Given the description of an element on the screen output the (x, y) to click on. 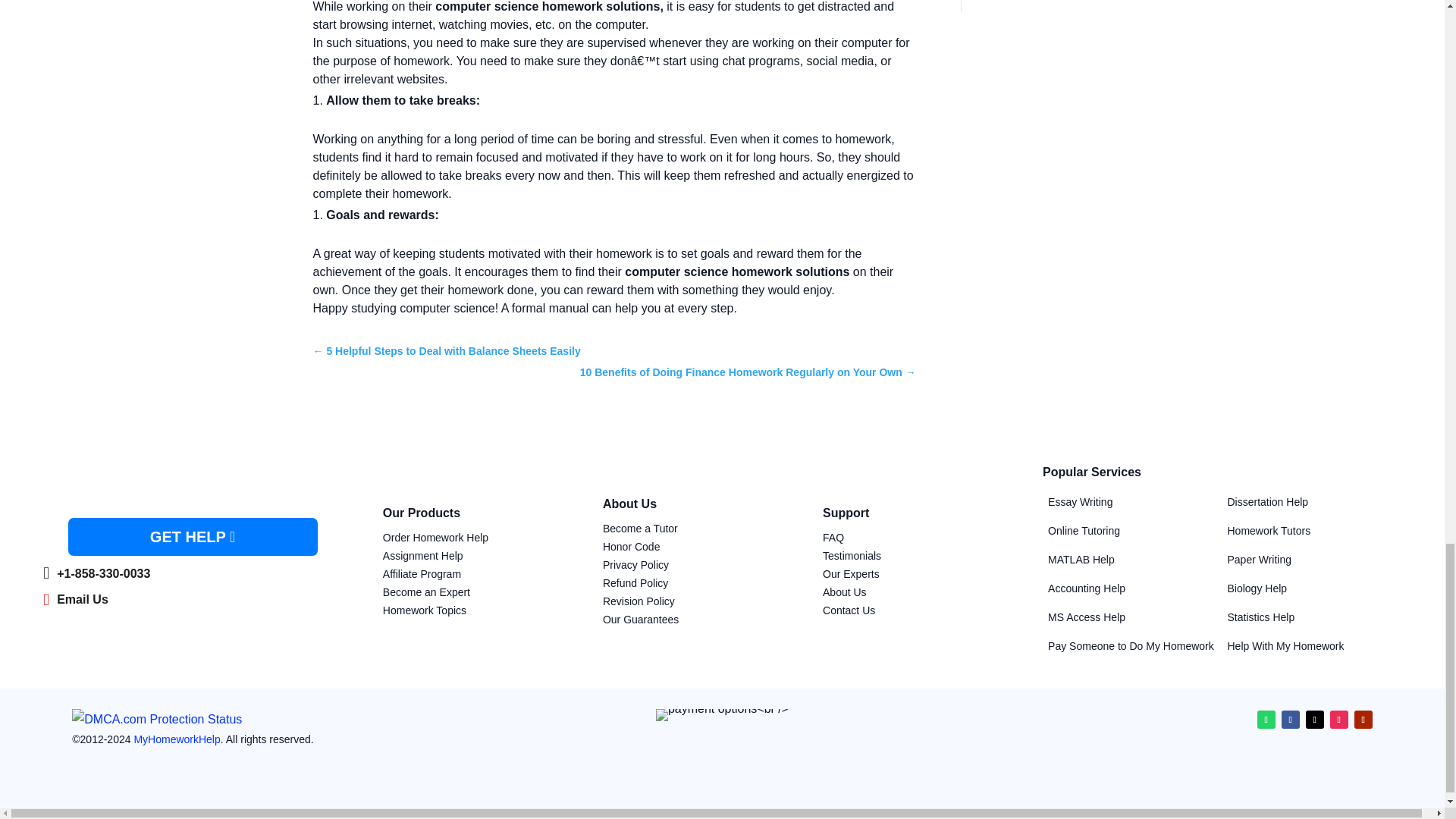
Follow on X (1314, 719)
FAQ (833, 537)
Follow on Instagram (1339, 719)
Follow on Youtube (1363, 719)
DMCA.com Protection Status (156, 718)
Follow on Facebook (1290, 719)
Follow on WhatsApp (1266, 719)
